Given the description of an element on the screen output the (x, y) to click on. 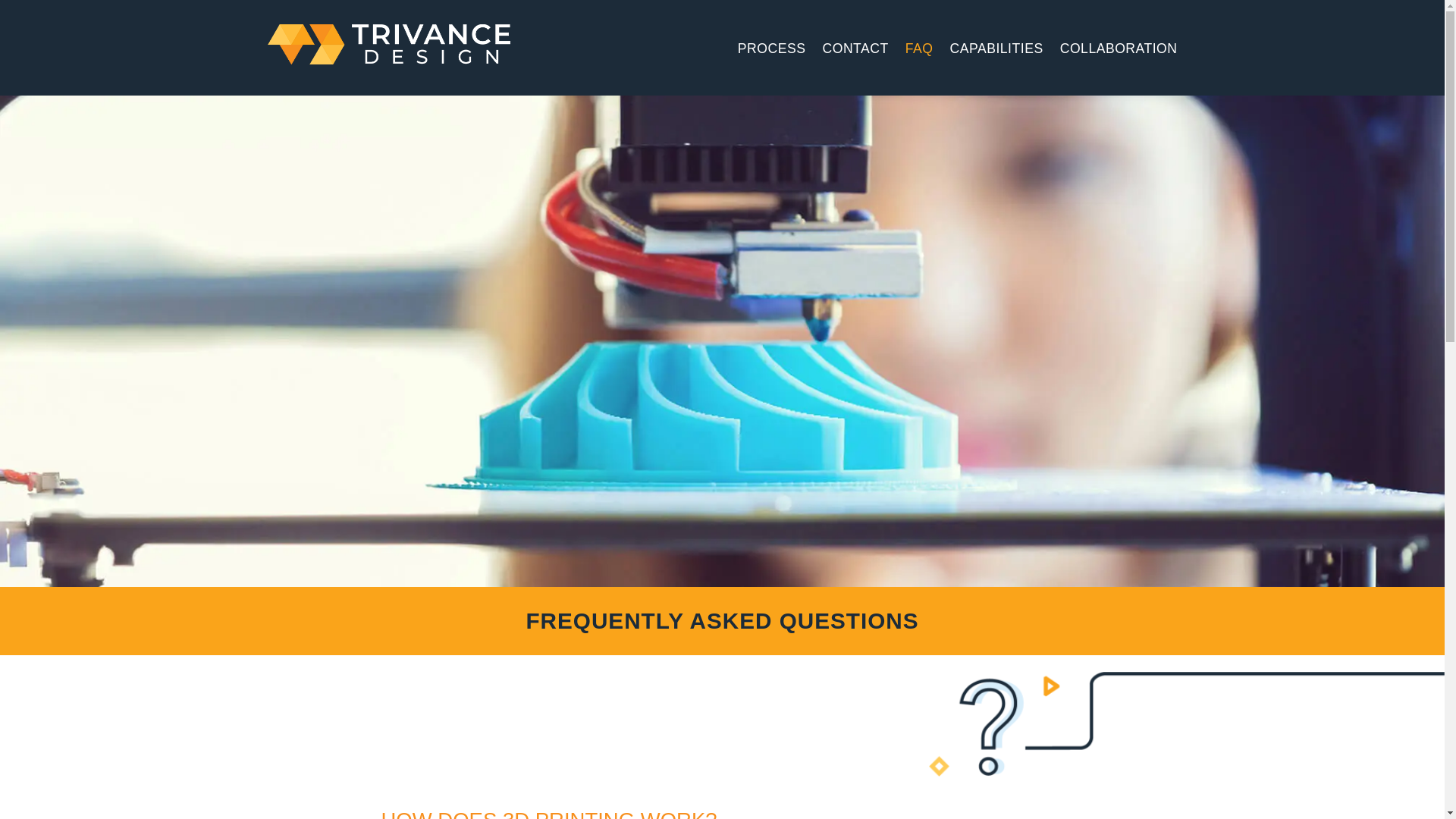
CAPABILITIES (996, 48)
PROCESS (772, 48)
CONTACT (855, 48)
COLLABORATION (1118, 48)
FAQ (919, 48)
